Given the description of an element on the screen output the (x, y) to click on. 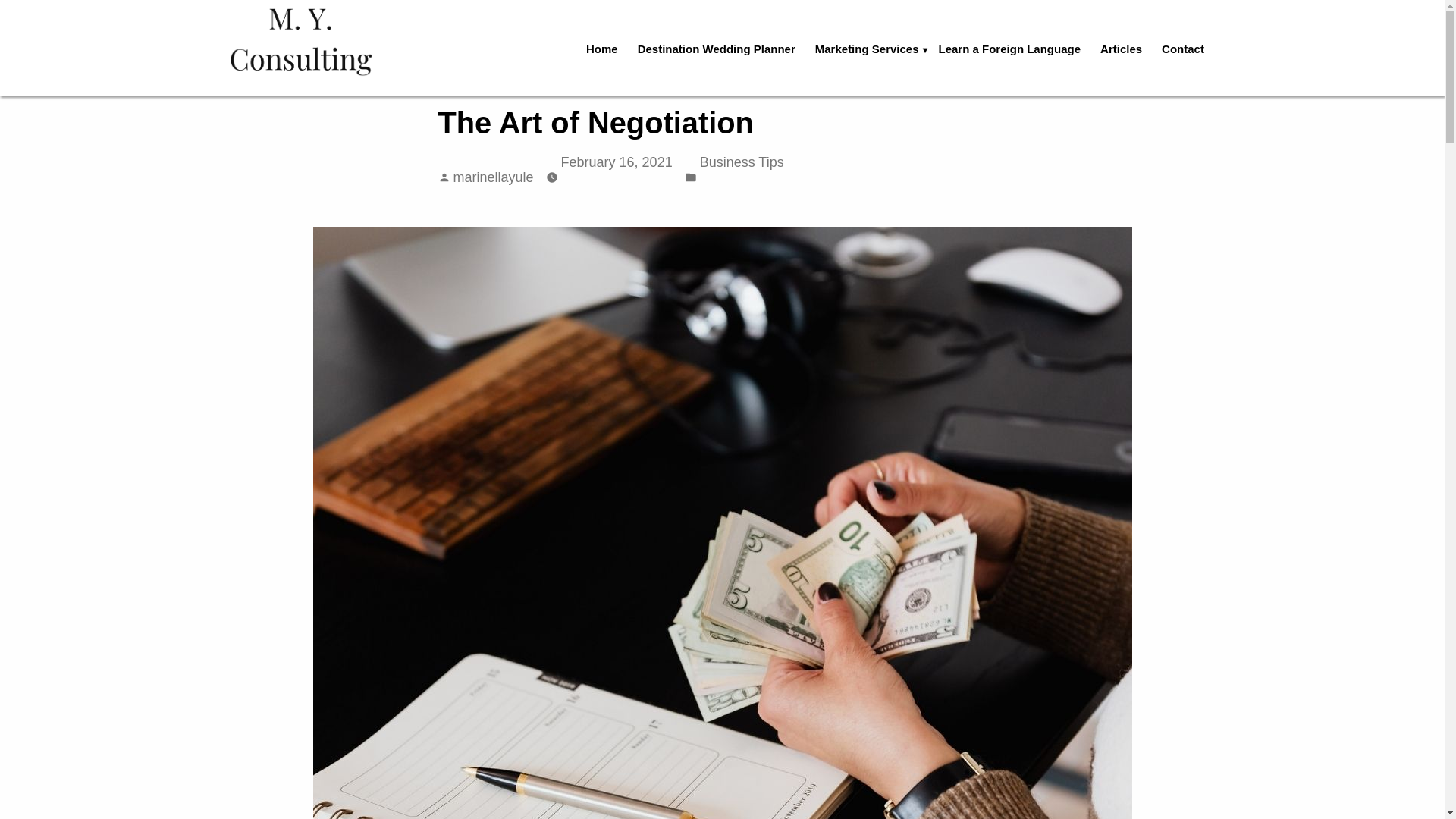
Learn a Foreign Language (1009, 48)
Marinella Yule Consulting (265, 98)
Contact (1182, 48)
Marketing Services (866, 48)
marinellayule (493, 177)
Articles (1120, 48)
Home (601, 48)
Business Tips (742, 162)
February 16, 2021 (616, 162)
